Given the description of an element on the screen output the (x, y) to click on. 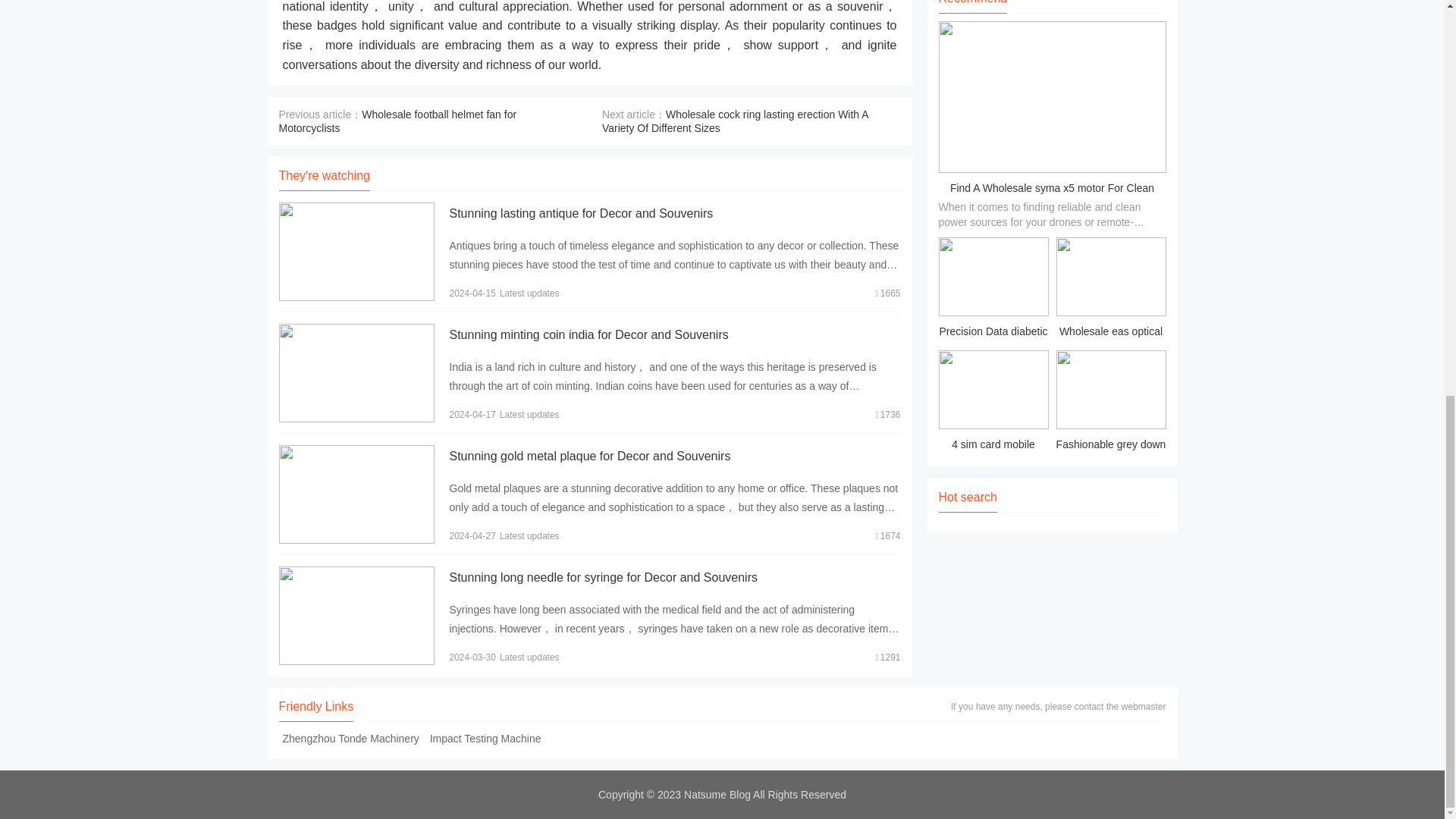
Stunning long needle for syringe for Decor and Souvenirs (602, 576)
Zhengzhou Tonde Machinery (351, 738)
Stunning minting coin india for Decor and Souvenirs (588, 334)
Find A Wholesale syma x5 motor For Clean Power (1052, 199)
Stunning lasting antique for Decor and Souvenirs (580, 213)
Fashionable grey down jacket For Comfort And Style (1110, 402)
Wholesale football helmet fan for Motorcyclists (397, 121)
Stunning gold metal plaque for Decor and Souvenirs (589, 455)
Impact Testing Machine (485, 738)
Wholesale eas optical security tag to Protect Your Business (1110, 290)
